Given the description of an element on the screen output the (x, y) to click on. 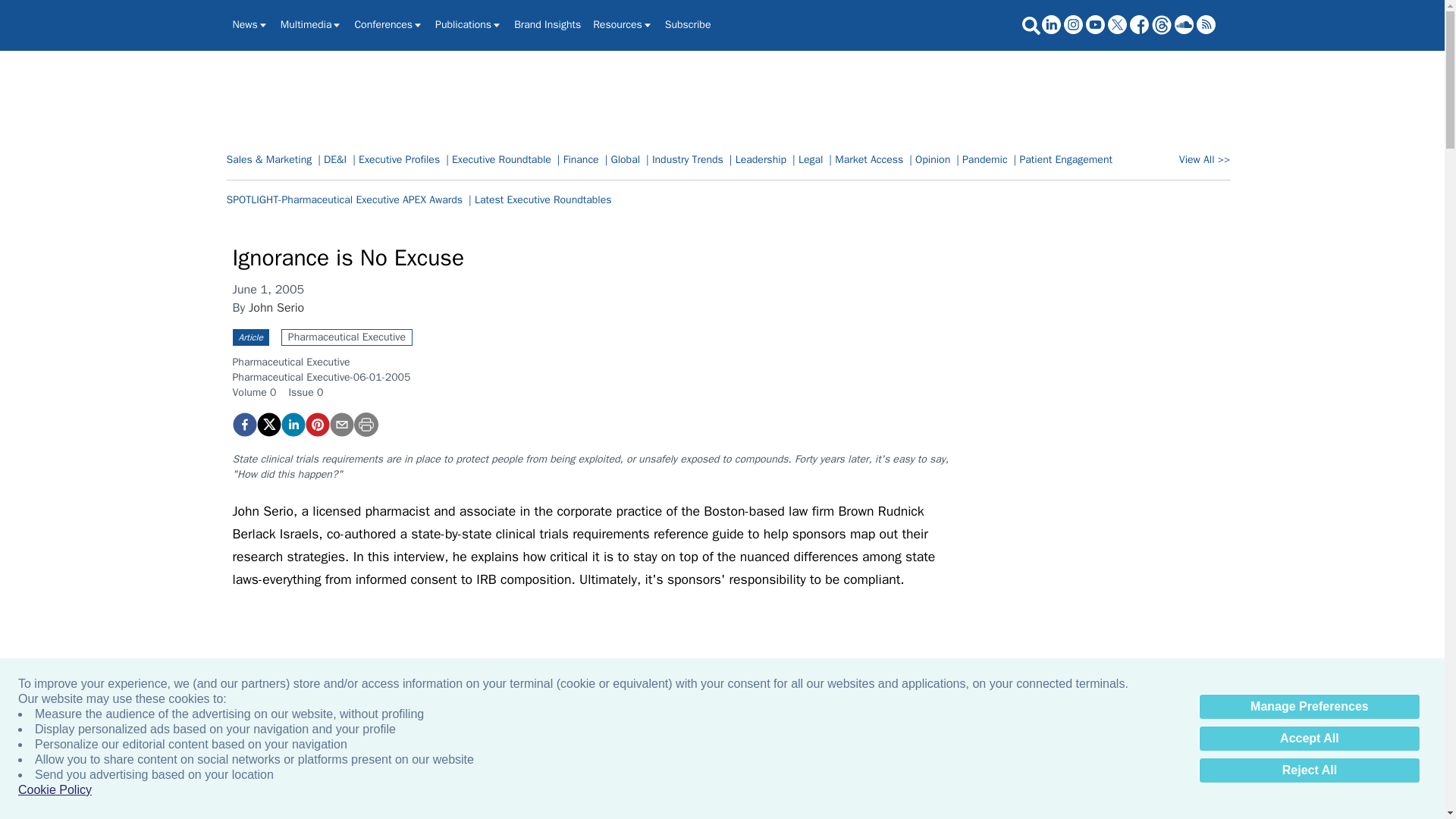
Accept All (1309, 738)
Reject All (1309, 769)
Manage Preferences (1309, 706)
Ignorance is No Excuse (316, 424)
Ignorance is No Excuse (243, 424)
Cookie Policy (54, 789)
Subscribe (688, 23)
Brand Insights (546, 23)
